Given the description of an element on the screen output the (x, y) to click on. 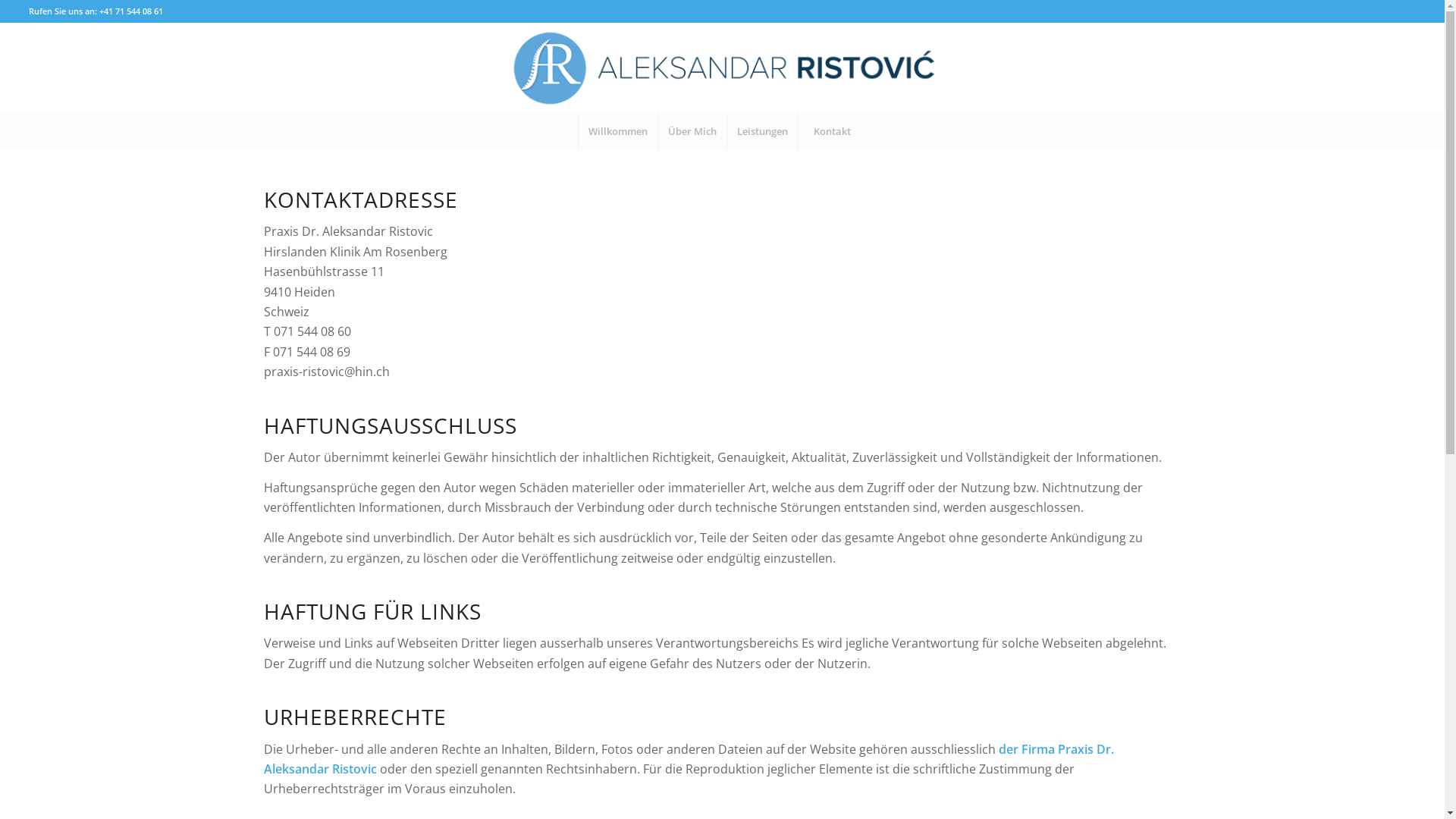
Leistungen Element type: text (761, 131)
Willkommen Element type: text (617, 131)
Kontakt Element type: text (831, 131)
